Given the description of an element on the screen output the (x, y) to click on. 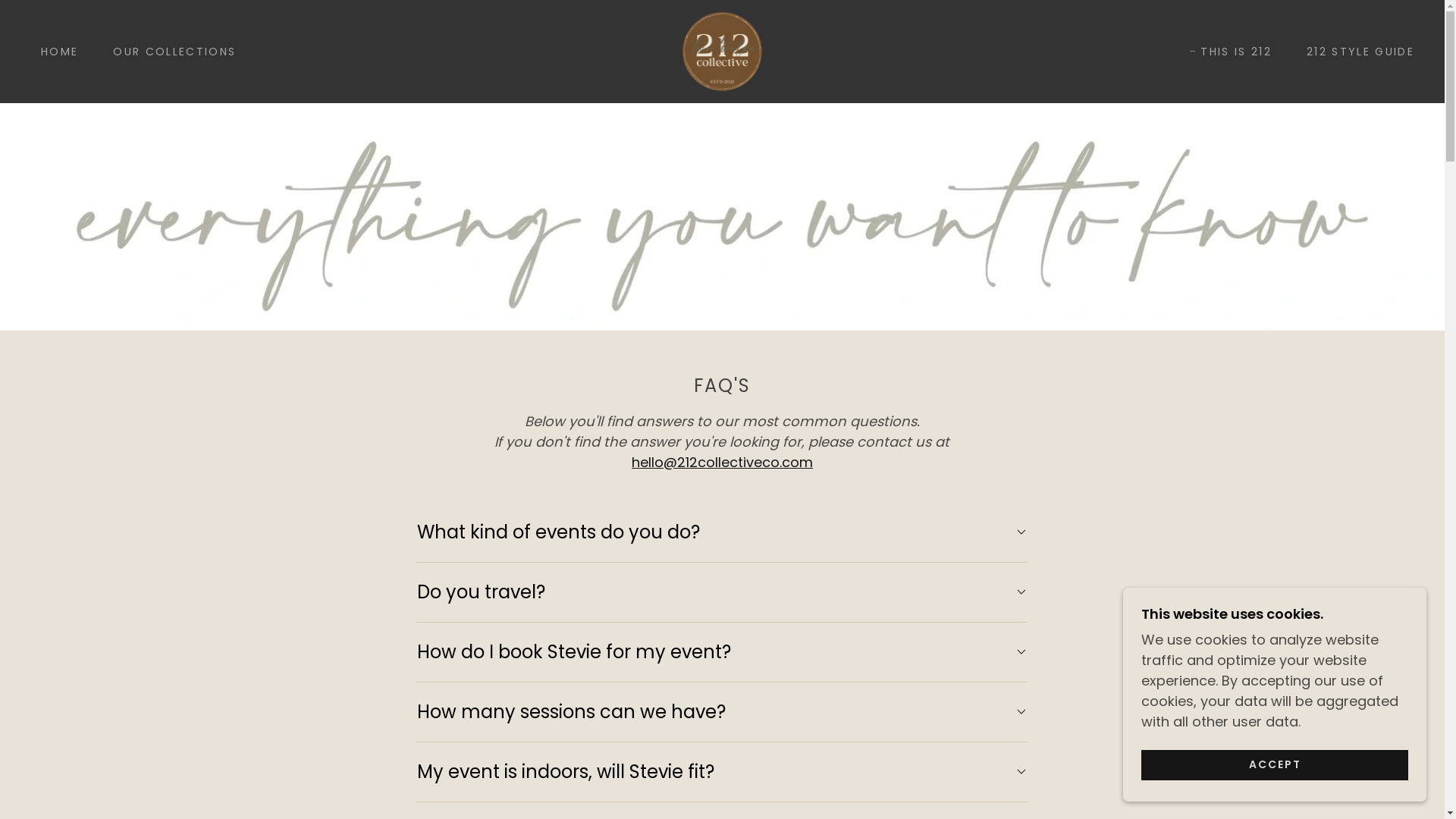
hello@212collectiveco.com Element type: text (721, 461)
ACCEPT Element type: text (1274, 764)
My event is indoors, will Stevie fit? Element type: text (722, 771)
THIS IS 212 Element type: text (1230, 51)
How many sessions can we have? Element type: text (722, 711)
OUR COLLECTIONS Element type: text (168, 51)
Two Twelve Collective Element type: hover (721, 49)
What kind of events do you do? Element type: text (722, 531)
HOME Element type: text (53, 51)
Do you travel? Element type: text (722, 591)
212 STYLE GUIDE Element type: text (1354, 51)
How do I book Stevie for my event? Element type: text (722, 651)
